Given the description of an element on the screen output the (x, y) to click on. 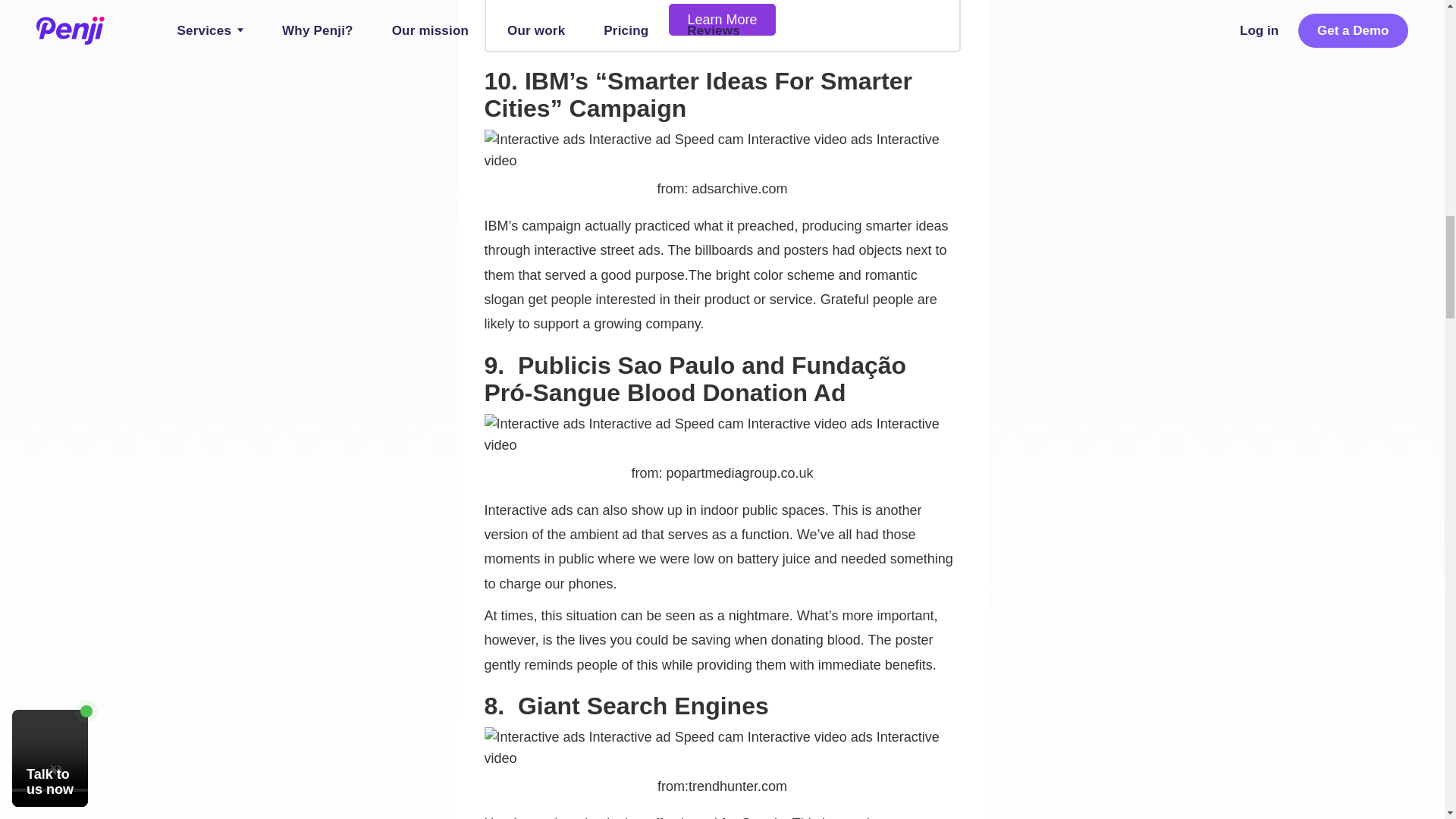
Learn More (721, 20)
